Given the description of an element on the screen output the (x, y) to click on. 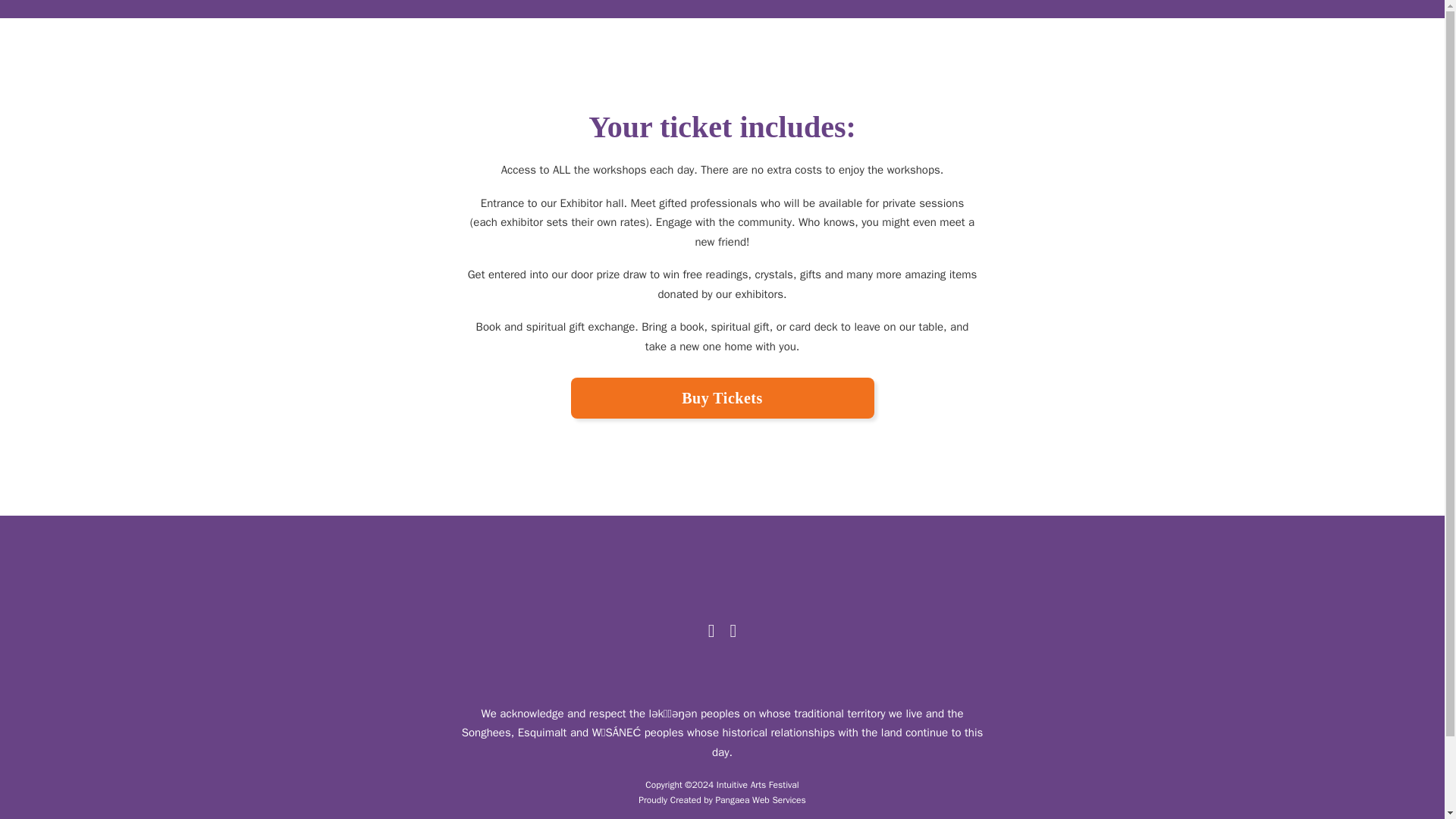
Buy Tickets (721, 397)
Pangaea Web Services (759, 799)
